Given the description of an element on the screen output the (x, y) to click on. 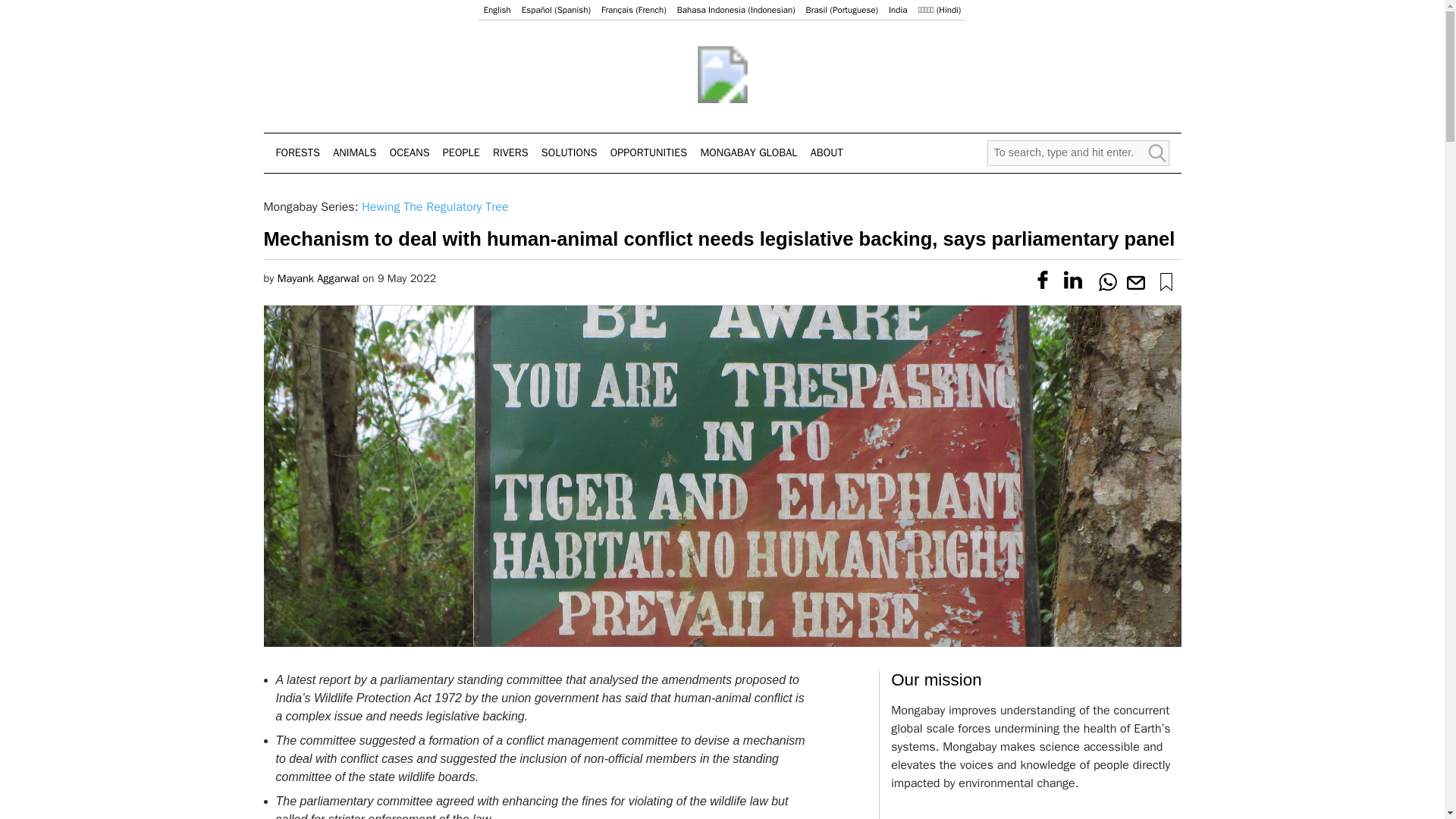
Hewing The Regulatory Tree (434, 206)
ANIMALS (354, 153)
English (497, 9)
FORESTS (298, 153)
OPPORTUNITIES (648, 153)
SOLUTIONS (568, 153)
ABOUT (826, 153)
India (897, 9)
MONGABAY GLOBAL (748, 153)
PEOPLE (461, 153)
OCEANS (409, 153)
Mayank Aggarwal (318, 278)
RIVERS (510, 153)
